Given the description of an element on the screen output the (x, y) to click on. 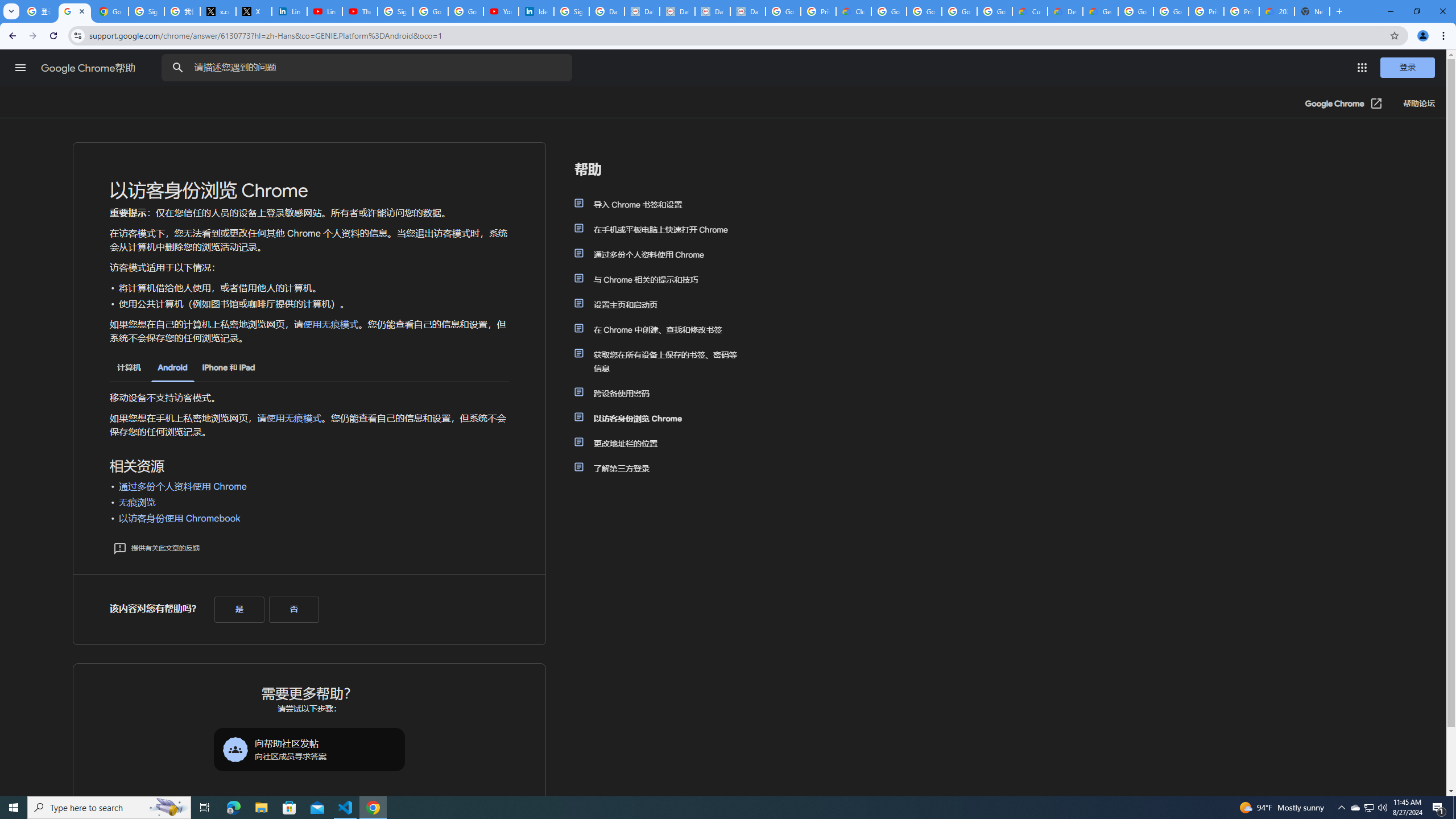
Customer Care | Google Cloud (1029, 11)
Sign in - Google Accounts (145, 11)
Google Cloud Platform (1135, 11)
